Given the description of an element on the screen output the (x, y) to click on. 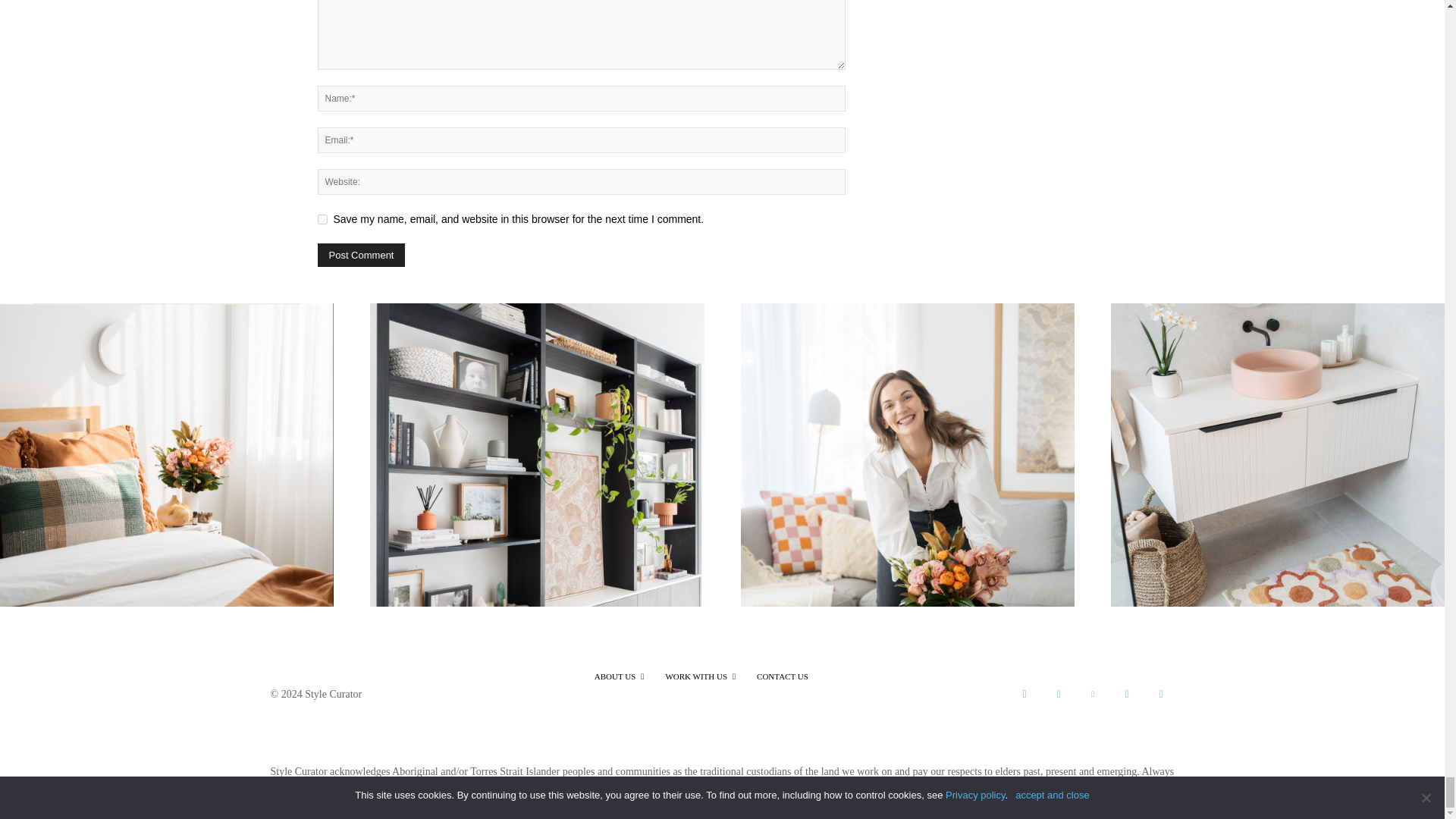
Post Comment (360, 254)
yes (321, 219)
